Given the description of an element on the screen output the (x, y) to click on. 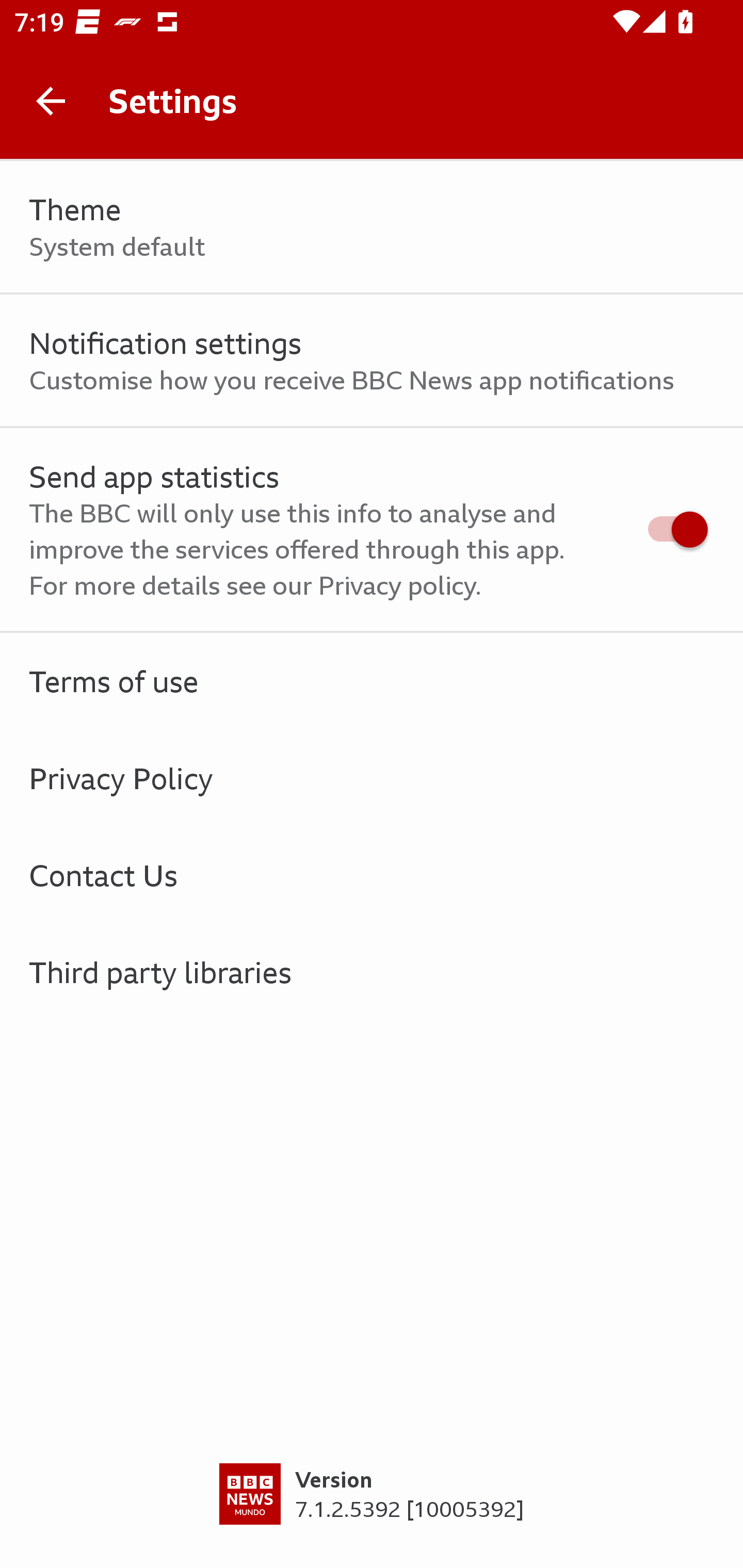
Back (50, 101)
Theme System default (371, 227)
Terms of use (371, 681)
Privacy Policy (371, 777)
Contact Us (371, 874)
Third party libraries (371, 971)
Version 7.1.2.5392 [10005392] (371, 1515)
